Given the description of an element on the screen output the (x, y) to click on. 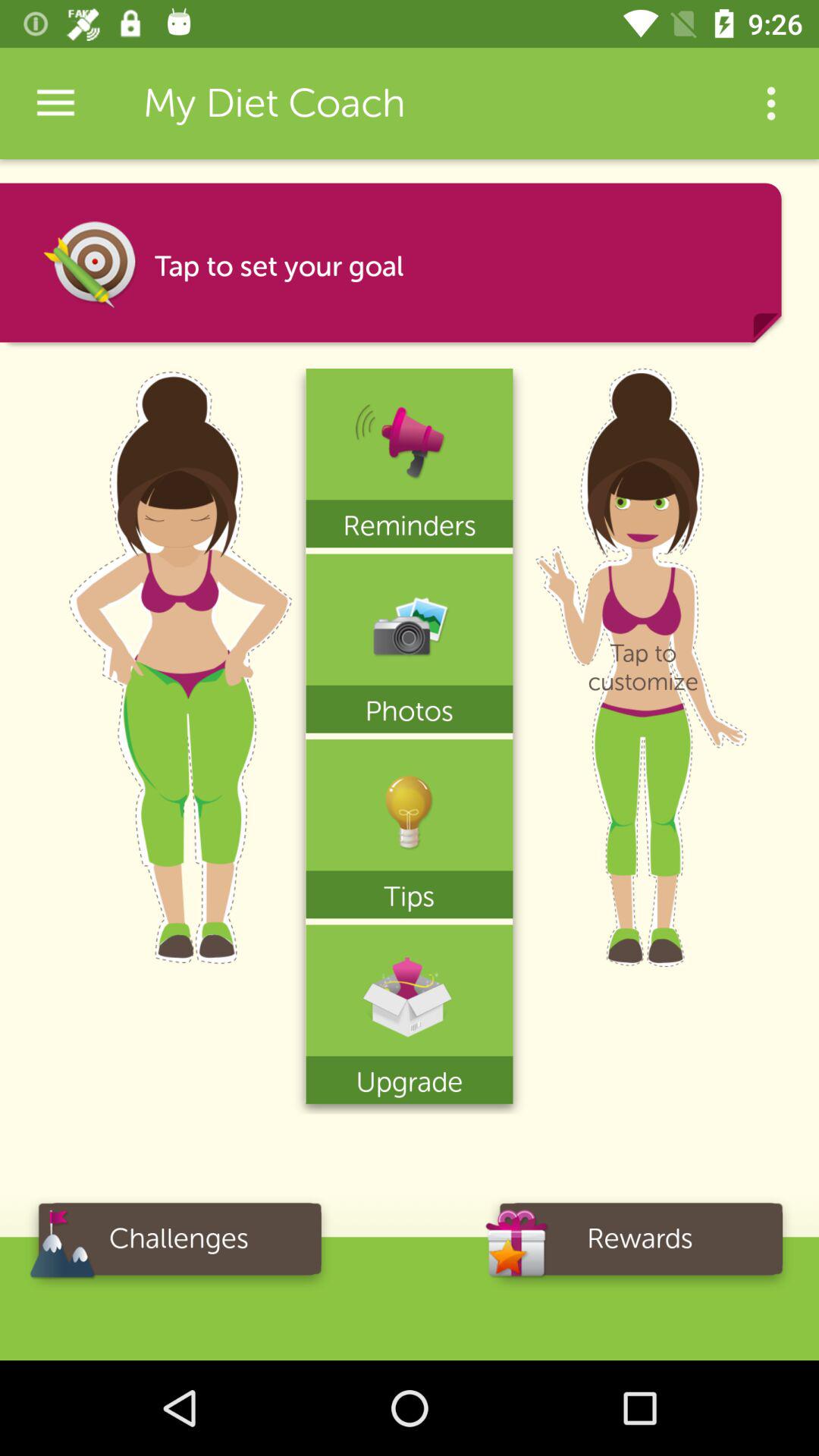
launch the rewards at the bottom right corner (639, 1243)
